Given the description of an element on the screen output the (x, y) to click on. 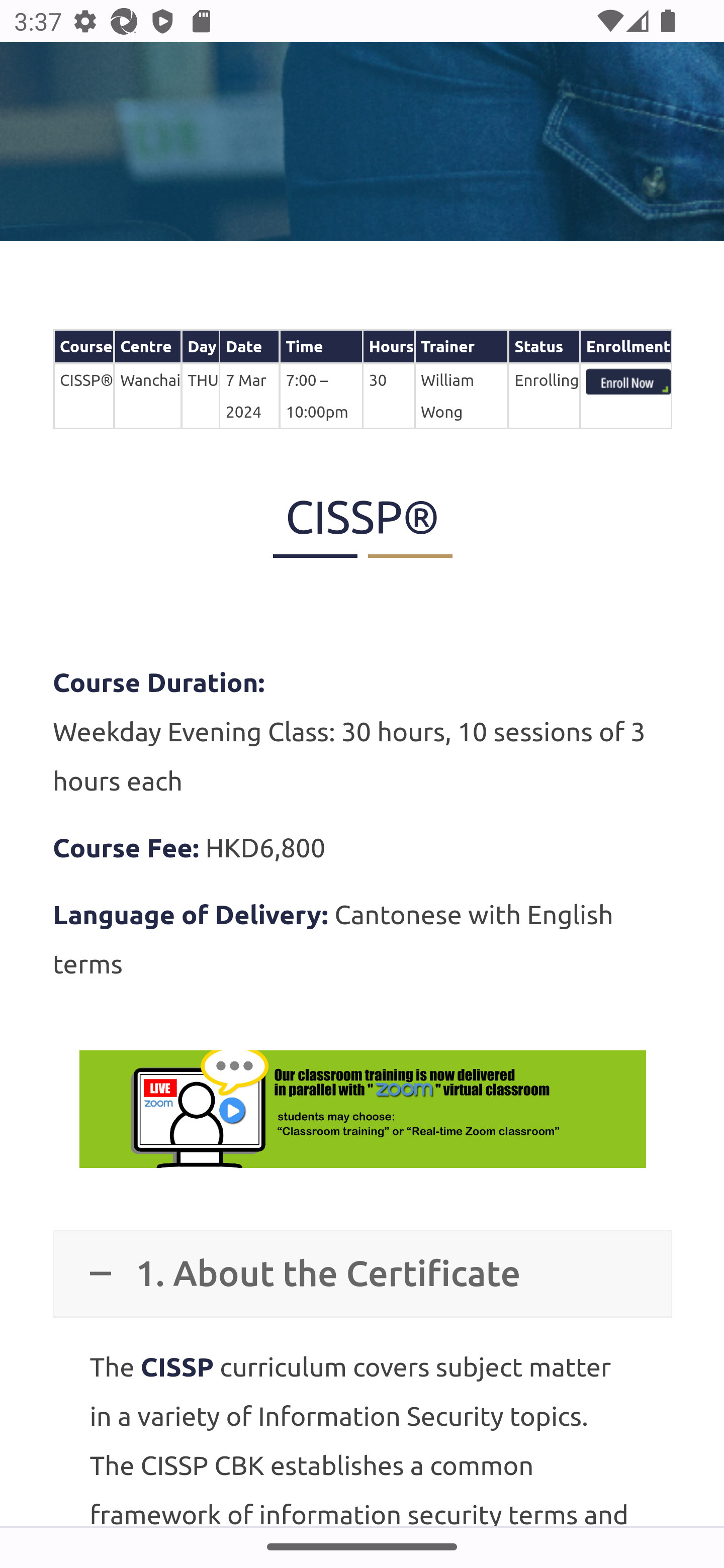
index (627, 384)
